Given the description of an element on the screen output the (x, y) to click on. 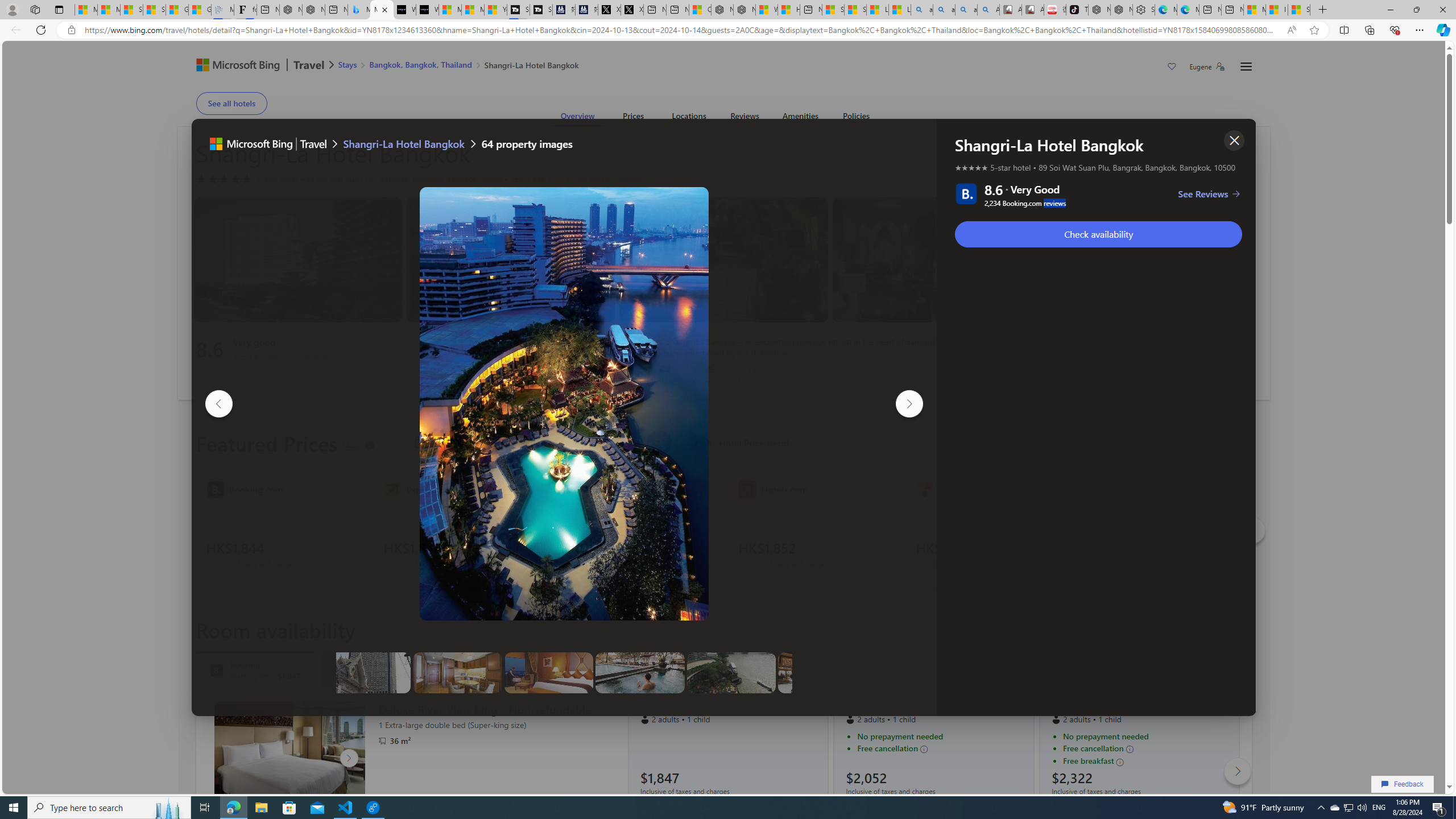
Nordace Siena Pro 15 Backpack (1121, 9)
I Gained 20 Pounds of Muscle in 30 Days! | Watch (1276, 9)
